Given the description of an element on the screen output the (x, y) to click on. 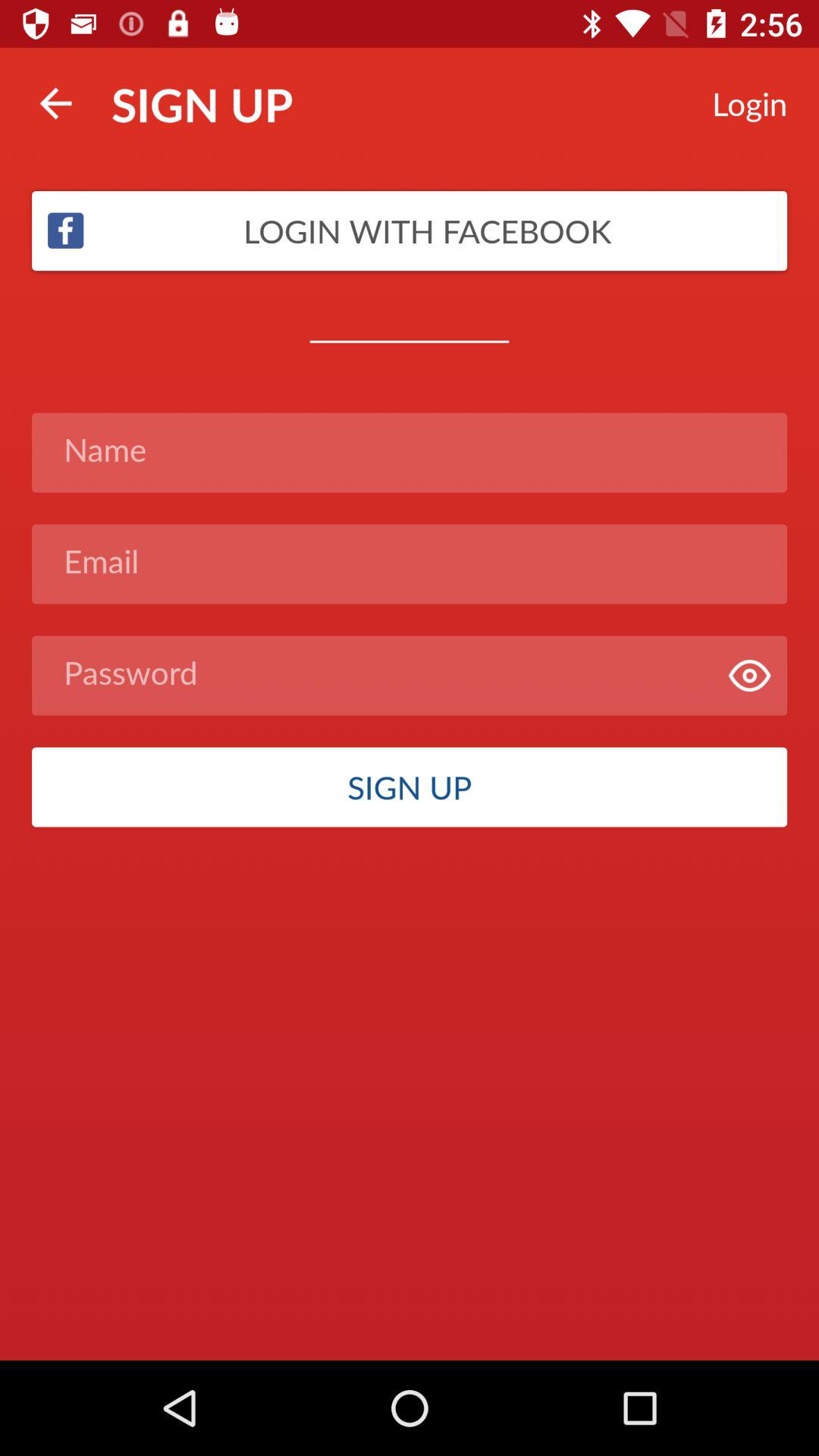
tap the icon above login with facebook item (55, 103)
